Given the description of an element on the screen output the (x, y) to click on. 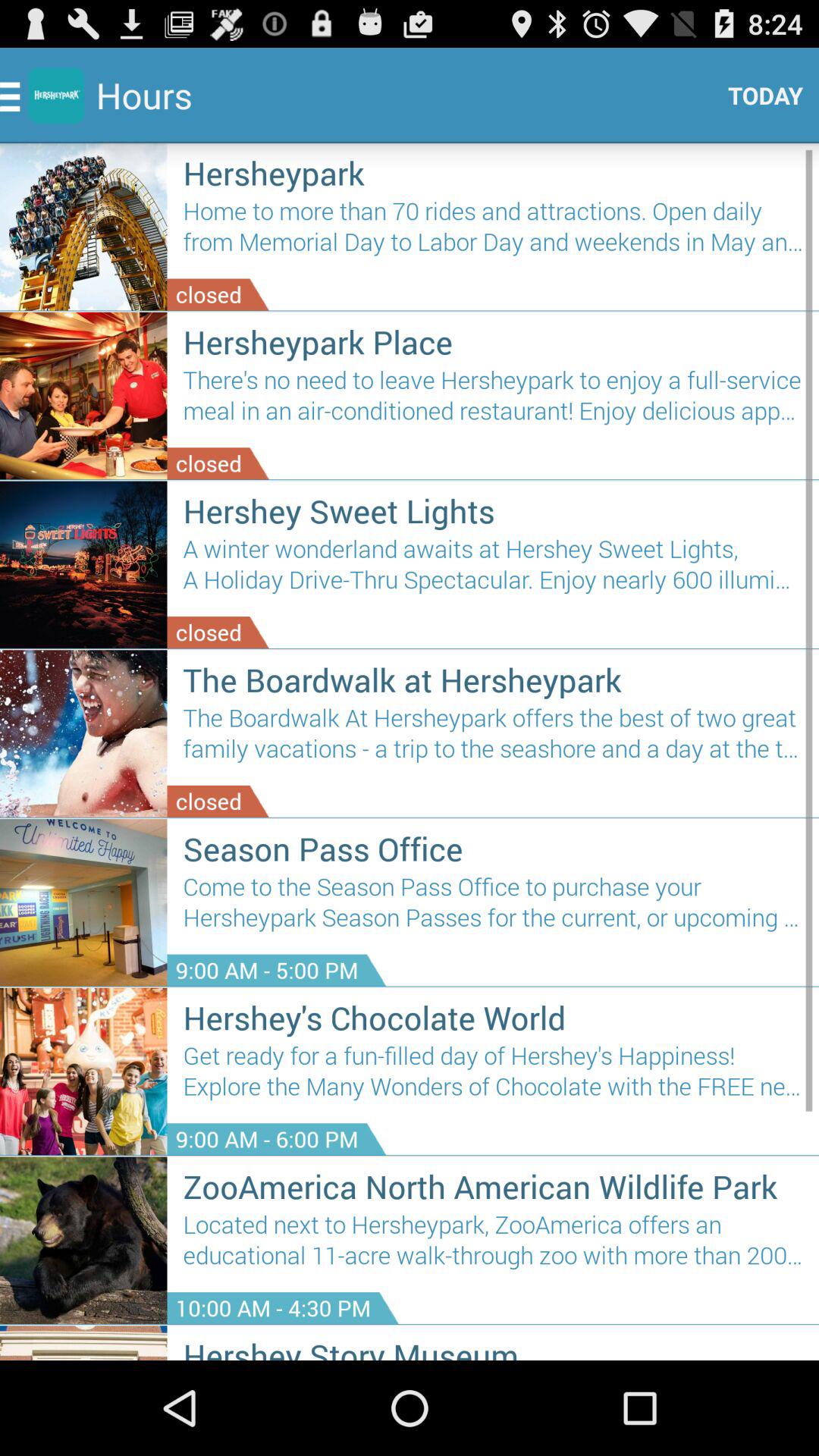
scroll until the a winter wonderland icon (493, 570)
